Given the description of an element on the screen output the (x, y) to click on. 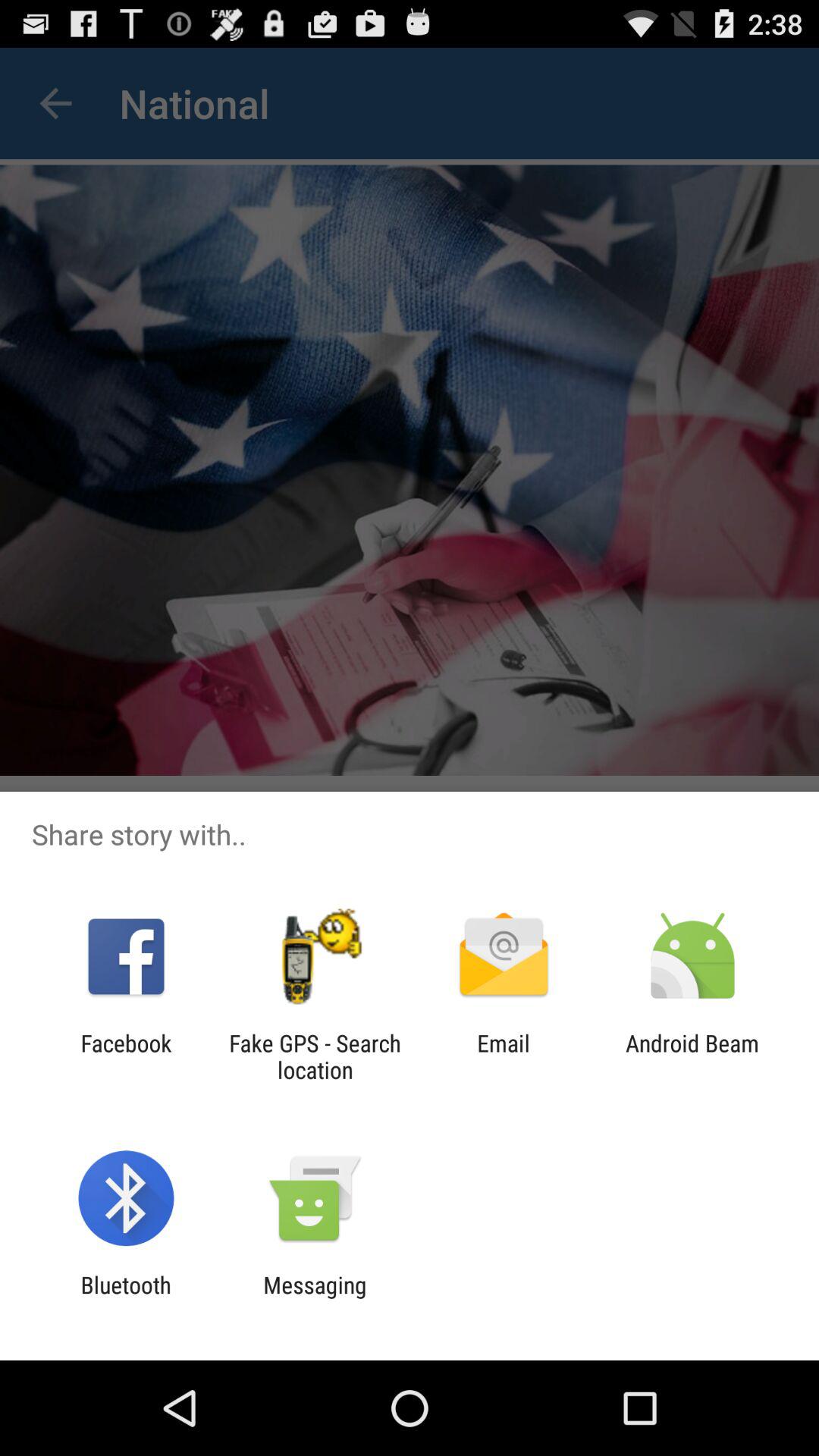
flip to facebook (125, 1056)
